Given the description of an element on the screen output the (x, y) to click on. 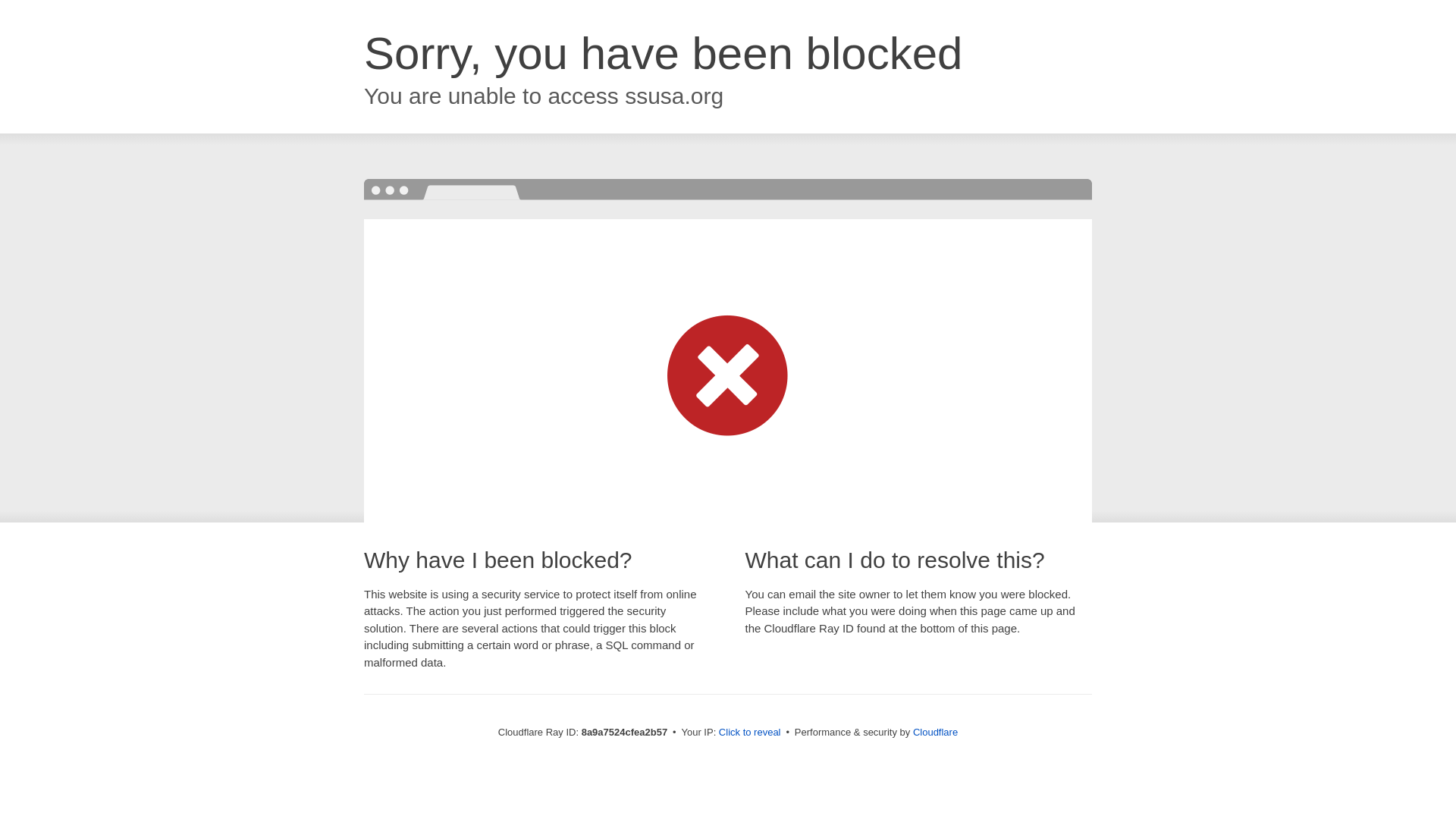
Cloudflare (935, 731)
Click to reveal (749, 732)
